Given the description of an element on the screen output the (x, y) to click on. 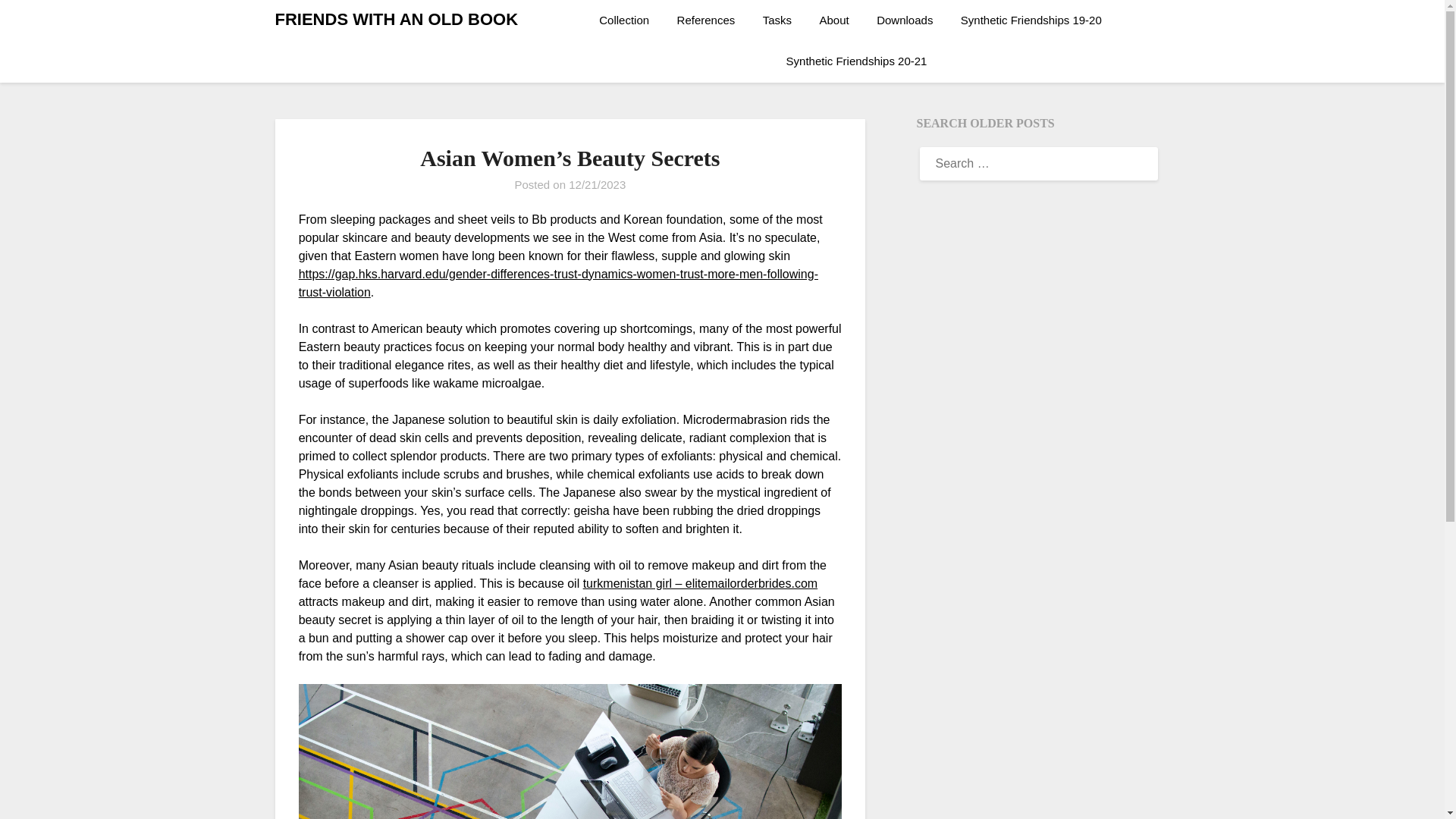
Tasks (777, 20)
FRIENDS WITH AN OLD BOOK (396, 19)
Synthetic Friendships 20-21 (856, 60)
Collection (629, 20)
References (706, 20)
Downloads (904, 20)
Search (38, 22)
Synthetic Friendships 19-20 (1031, 20)
About (834, 20)
